Given the description of an element on the screen output the (x, y) to click on. 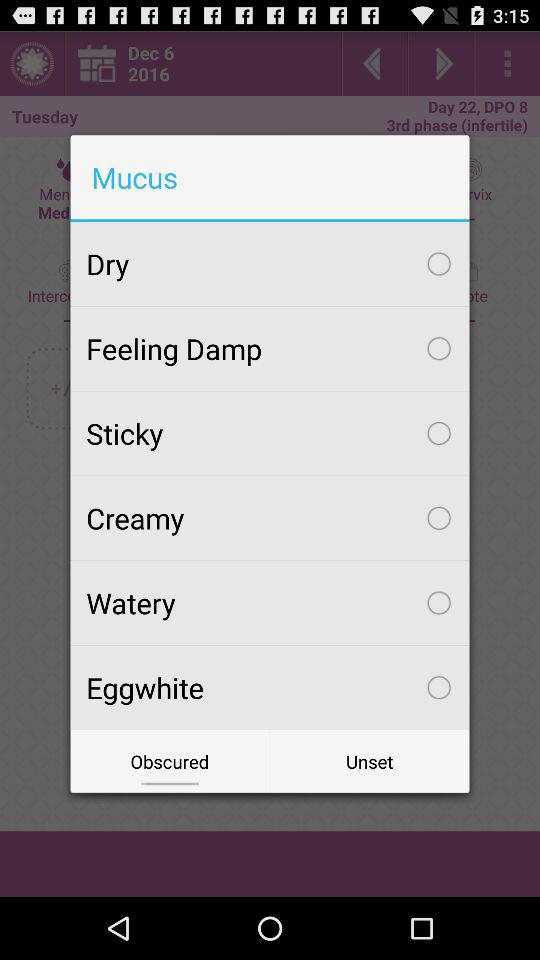
jump to eggwhite item (269, 687)
